Given the description of an element on the screen output the (x, y) to click on. 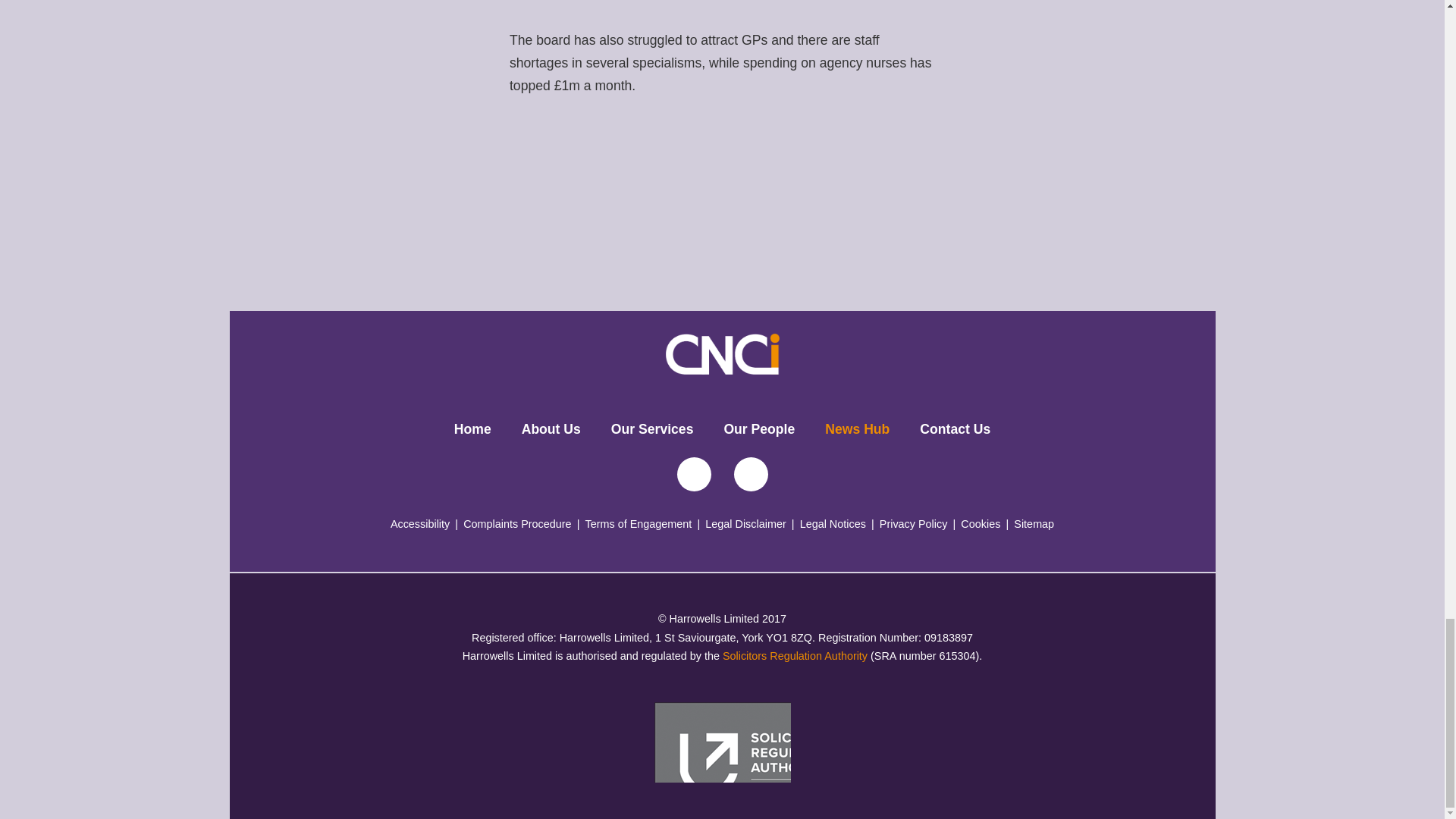
Home (472, 428)
